Given the description of an element on the screen output the (x, y) to click on. 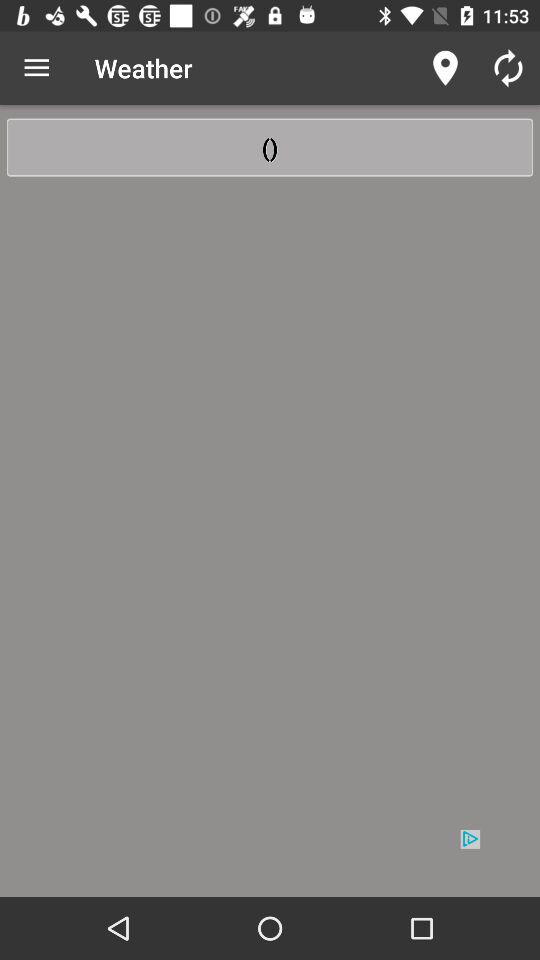
go to advertisement (270, 861)
